Given the description of an element on the screen output the (x, y) to click on. 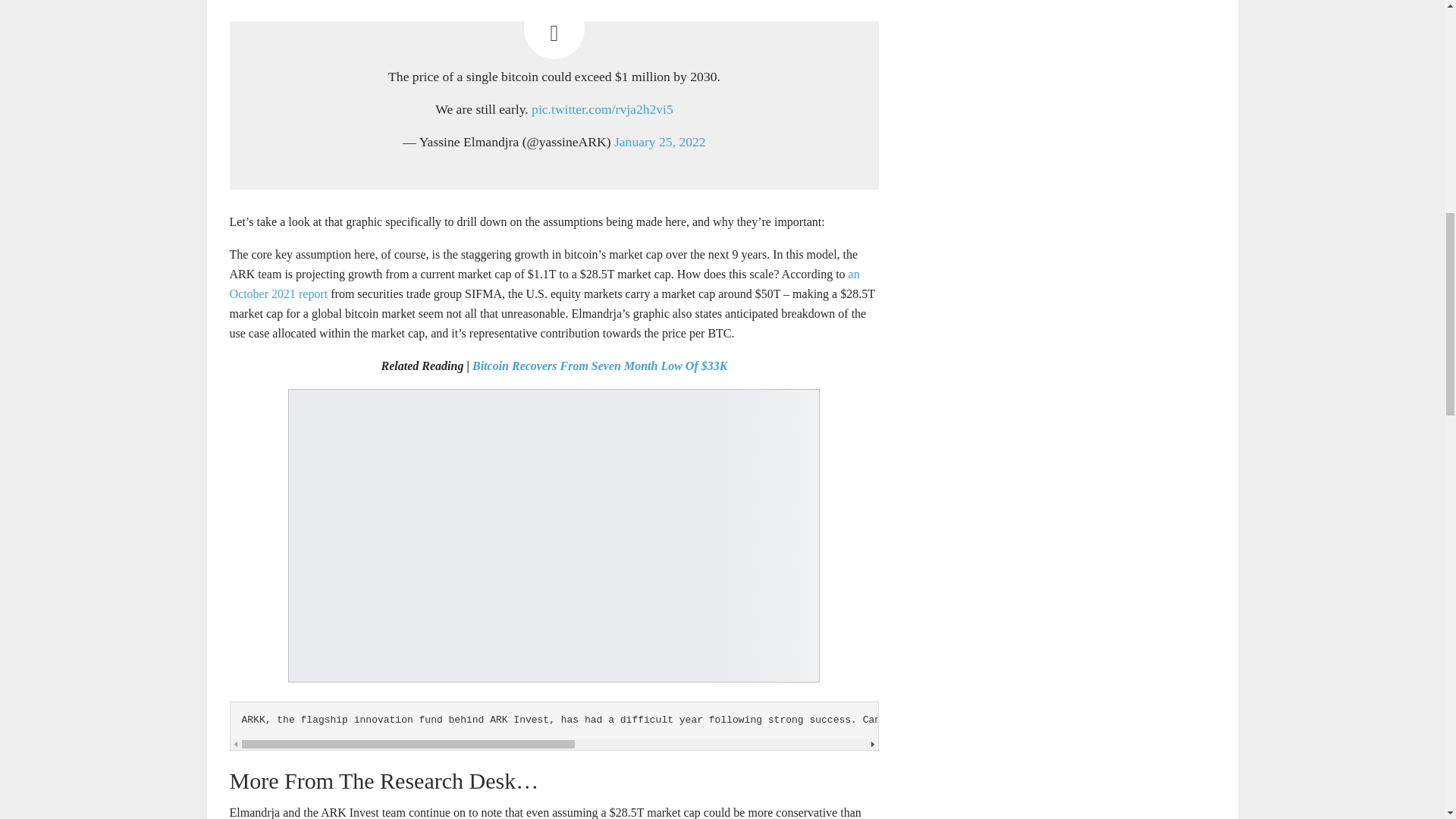
January 25, 2022 (660, 141)
NYSE: ARKK on TradingView.com (1350, 719)
an October 2021 report (543, 283)
